Given the description of an element on the screen output the (x, y) to click on. 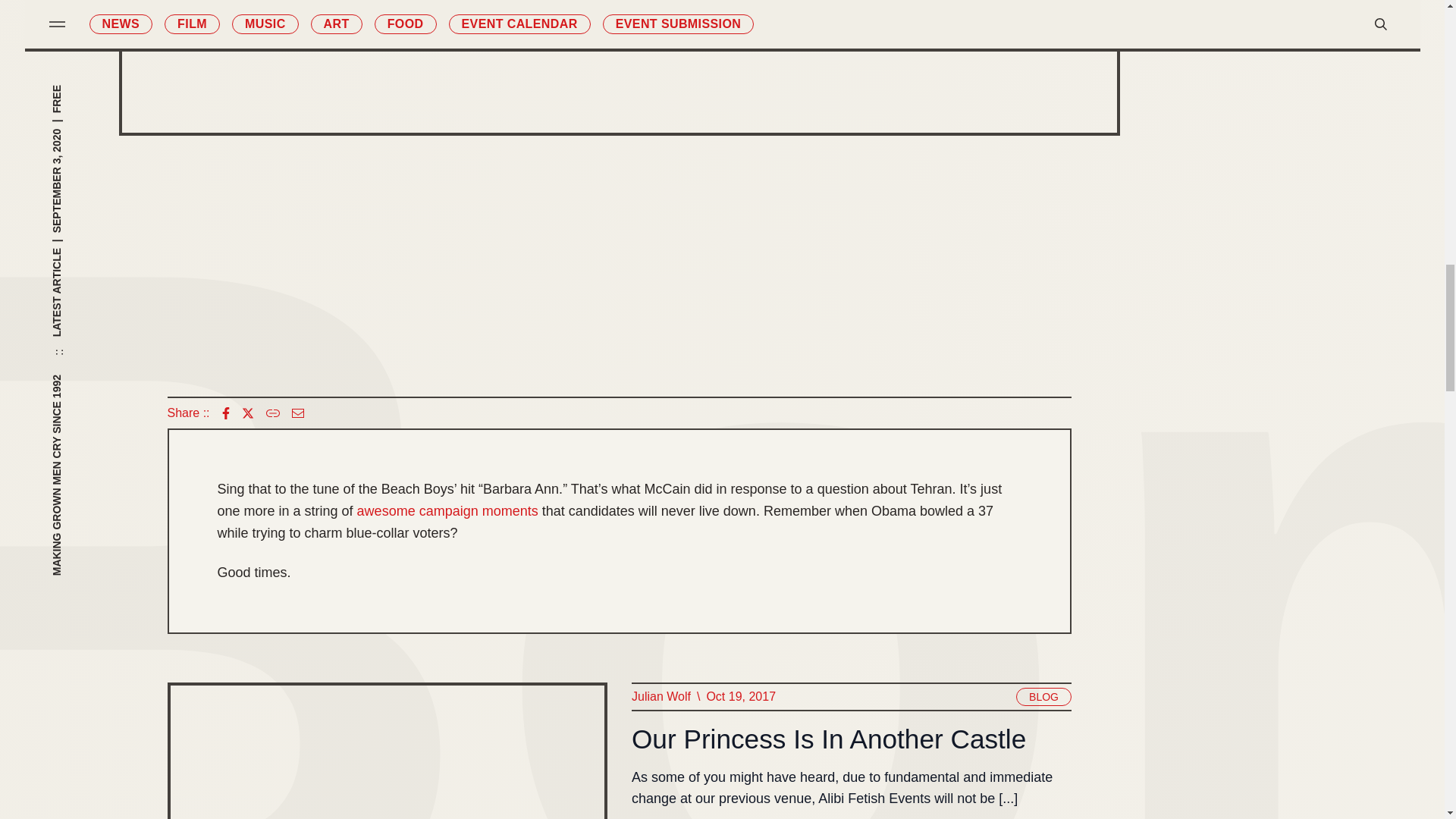
awesome campaign moments (447, 511)
BLOG (1043, 696)
Julian Wolf (660, 696)
